Given the description of an element on the screen output the (x, y) to click on. 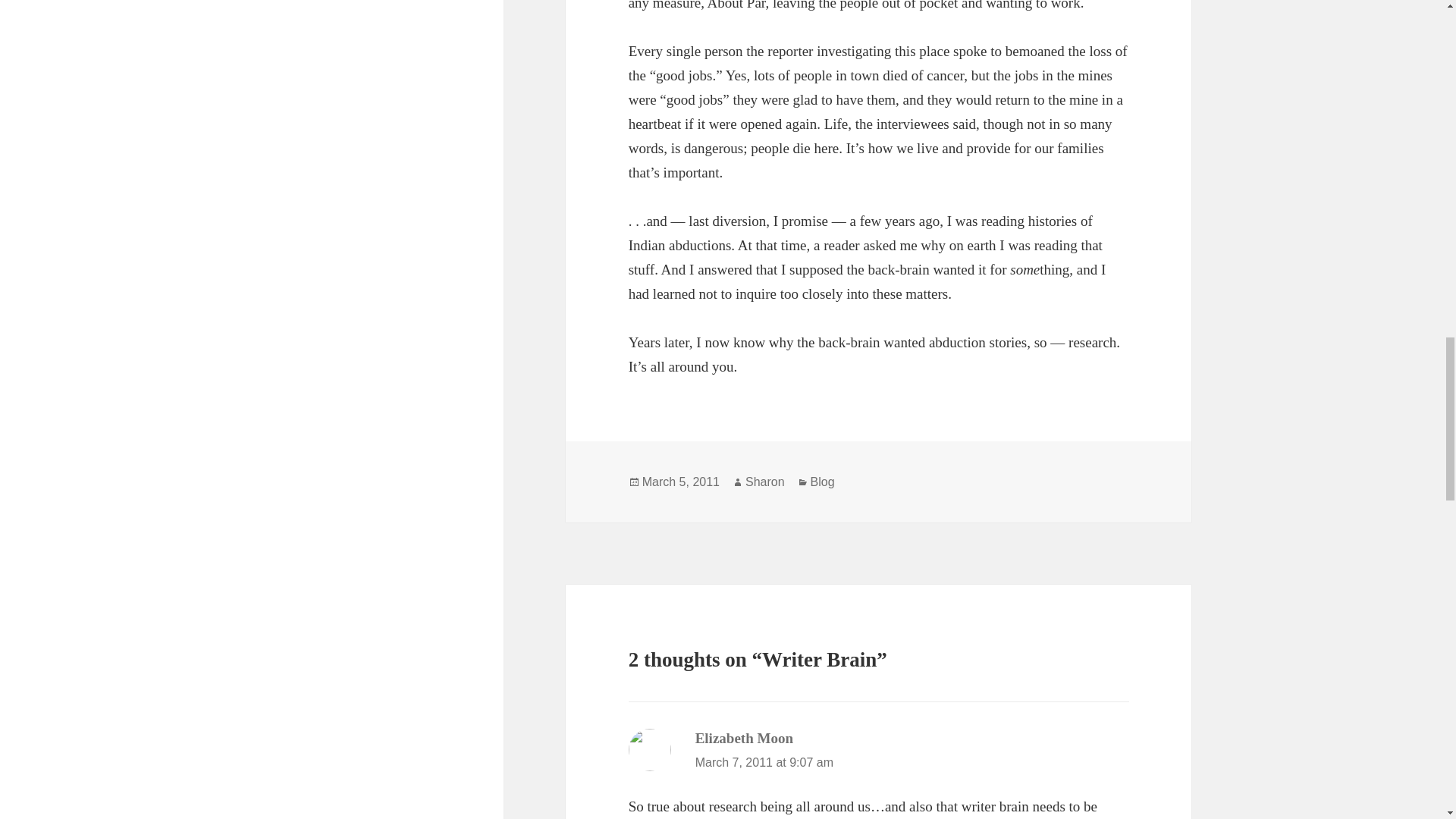
Blog (822, 481)
Sharon (764, 481)
March 7, 2011 at 9:07 am (763, 762)
March 5, 2011 (680, 481)
